Given the description of an element on the screen output the (x, y) to click on. 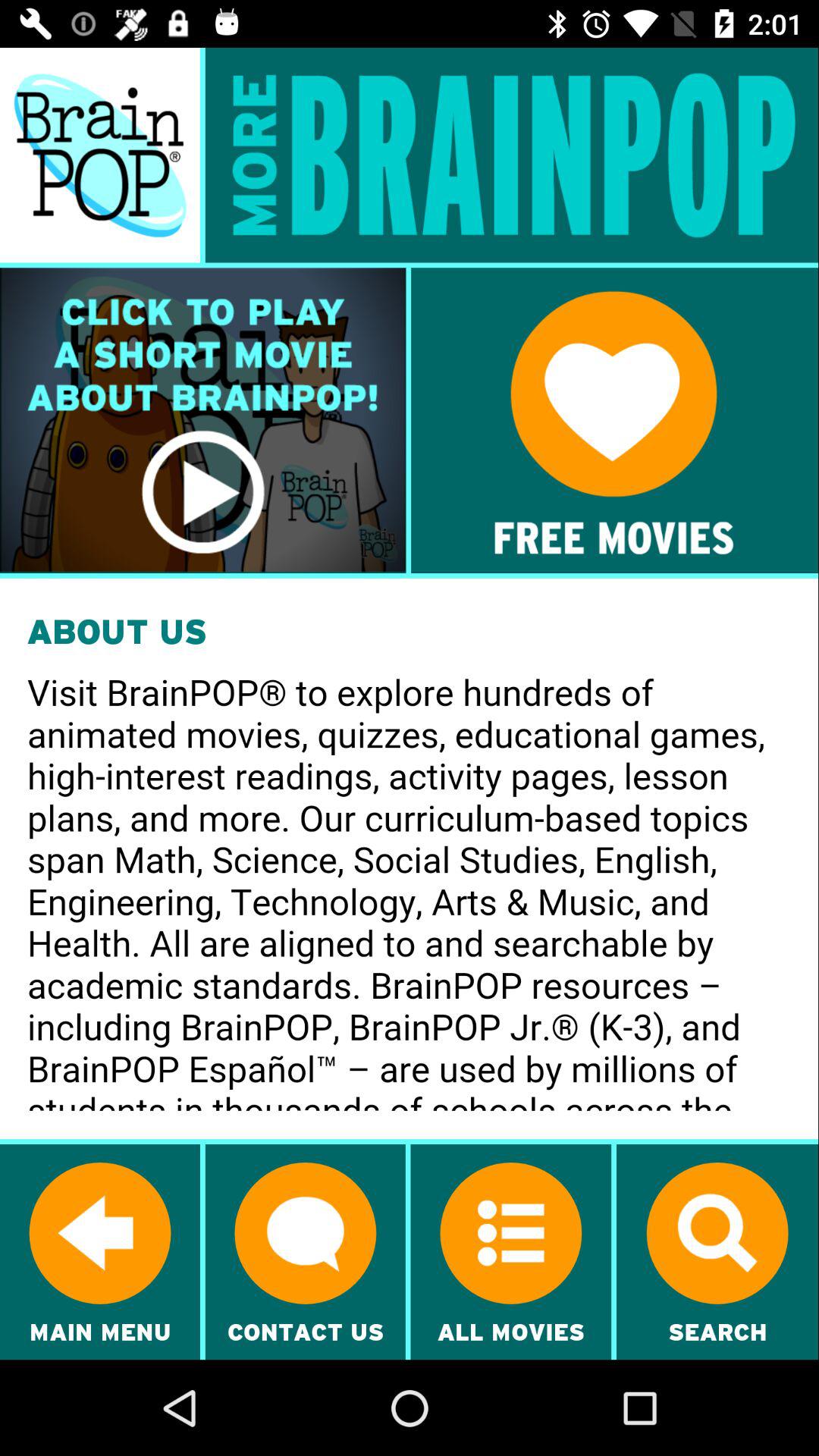
open this video (203, 420)
